Given the description of an element on the screen output the (x, y) to click on. 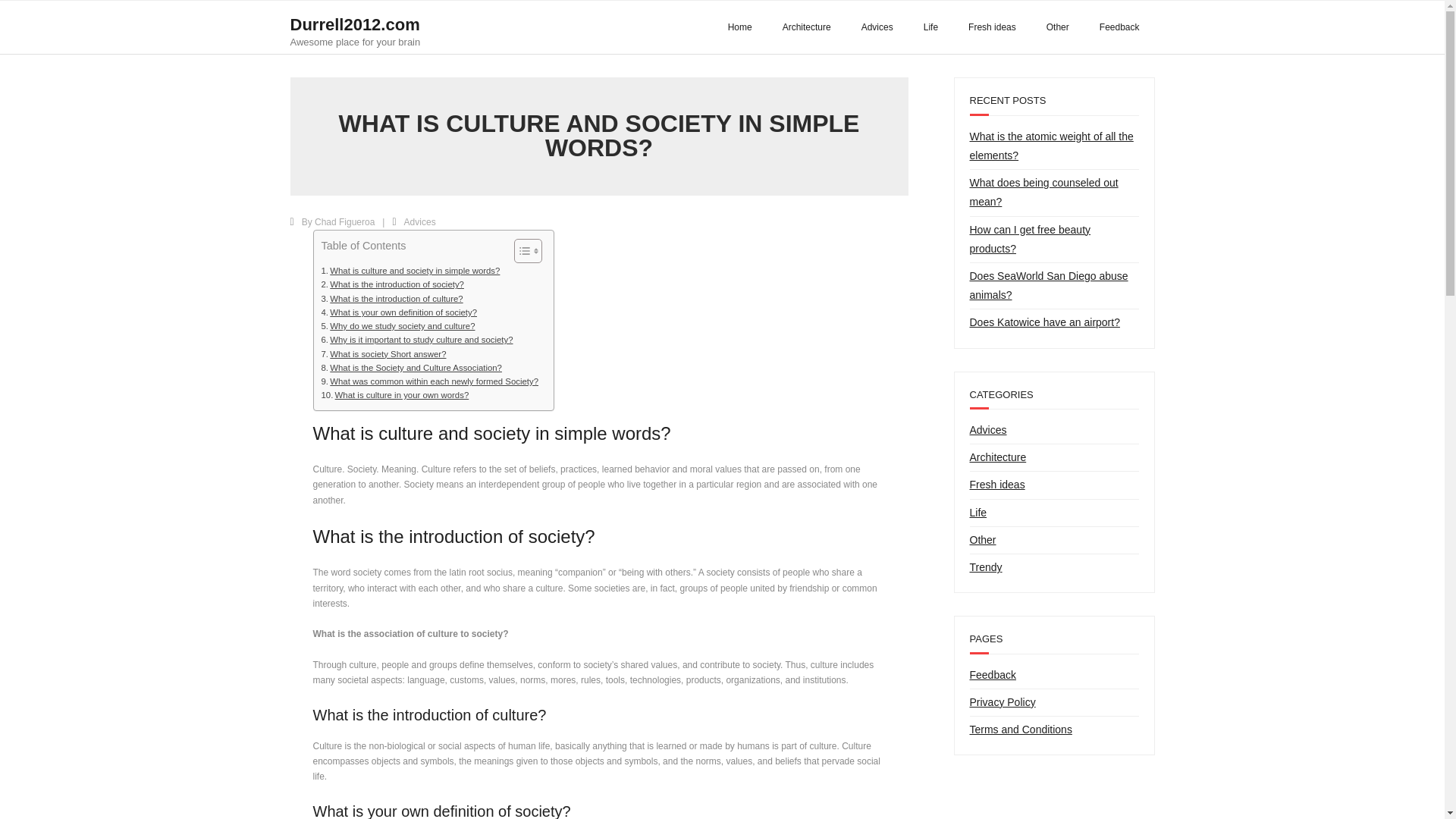
What was common within each newly formed Society? (429, 381)
Why is it important to study culture and society? (417, 339)
What is culture and society in simple words? (410, 270)
Advices (419, 222)
Feedback (1119, 27)
Advices (876, 27)
What is culture in your own words? (394, 395)
What is culture and society in simple words? (410, 270)
Home (740, 27)
Why do we study society and culture? (398, 325)
What is your own definition of society? (399, 312)
Awesome place for your brain (354, 41)
What is your own definition of society? (399, 312)
What is society Short answer? (383, 354)
What was common within each newly formed Society? (429, 381)
